Given the description of an element on the screen output the (x, y) to click on. 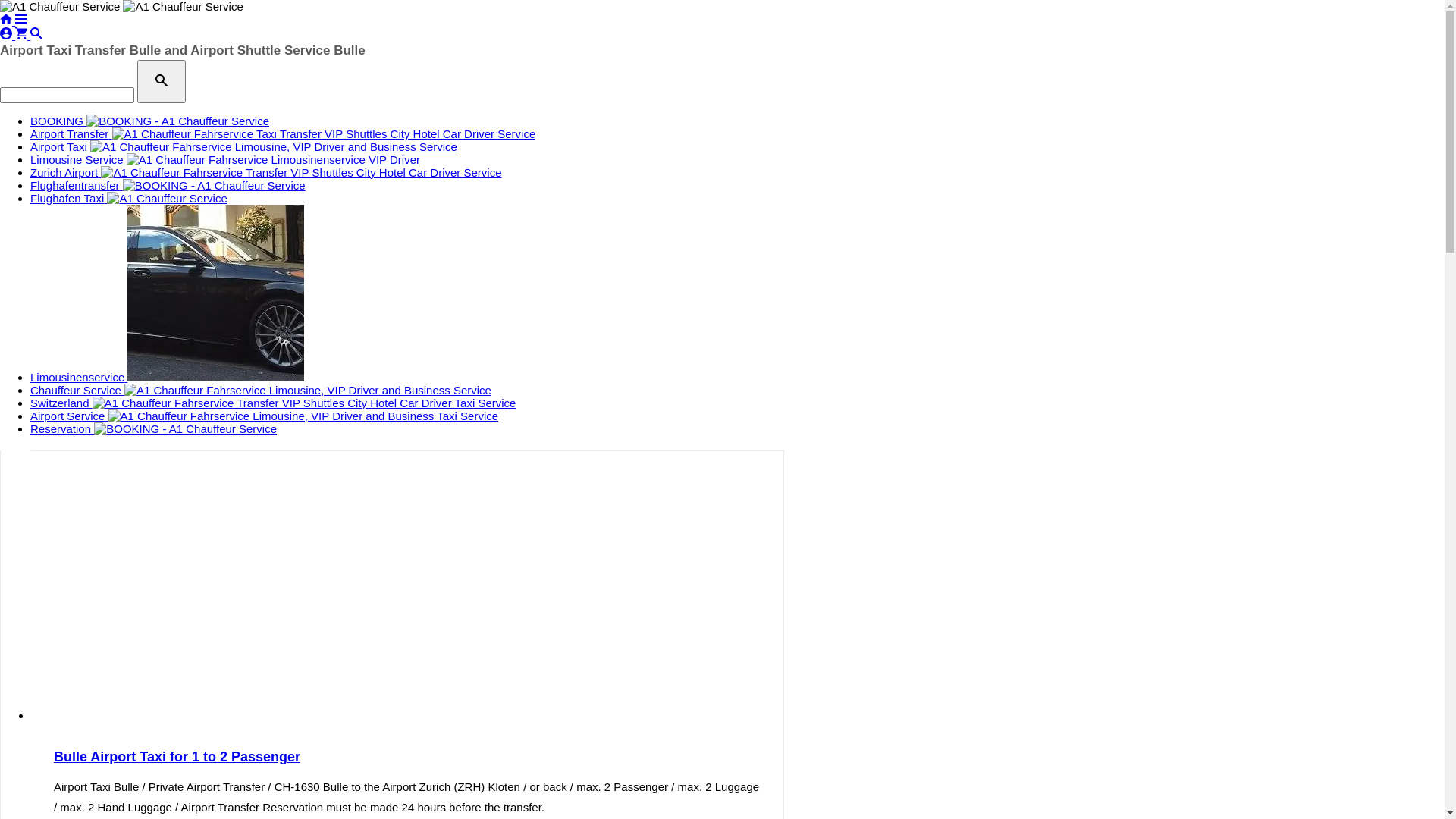
Zurich Airport Element type: text (266, 172)
Switzerland Element type: text (272, 402)
Flughafentransfer Element type: text (167, 184)
Airport Service Element type: text (264, 415)
Limousinenservice Element type: text (167, 376)
Airport Taxi Element type: text (243, 146)
BOOKING Element type: text (149, 120)
Flughafen Taxi Element type: text (128, 197)
Airport Transfer Element type: text (282, 133)
Bulle Airport Taxi for 1 to 2 Passenger Element type: text (406, 756)
Limousine Service Element type: text (225, 159)
Reservation Element type: text (153, 428)
Chauffeur Service Element type: text (260, 389)
